Given the description of an element on the screen output the (x, y) to click on. 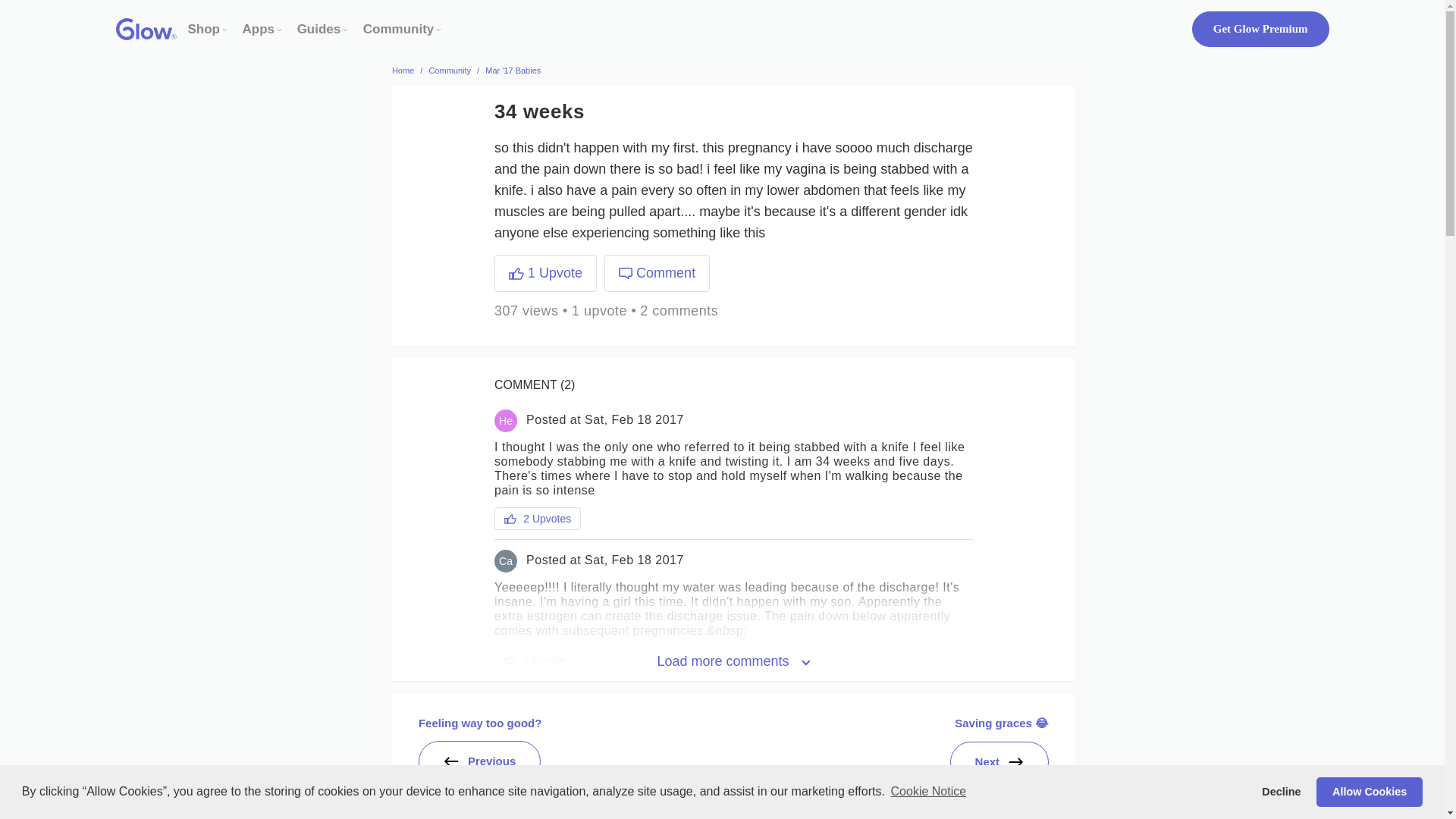
Allow Cookies (1369, 791)
Glow Community (397, 28)
Cookie Notice (928, 791)
Glow Shop (204, 28)
Shop (204, 28)
Guides (318, 28)
Apps (259, 28)
Decline (1281, 791)
